Given the description of an element on the screen output the (x, y) to click on. 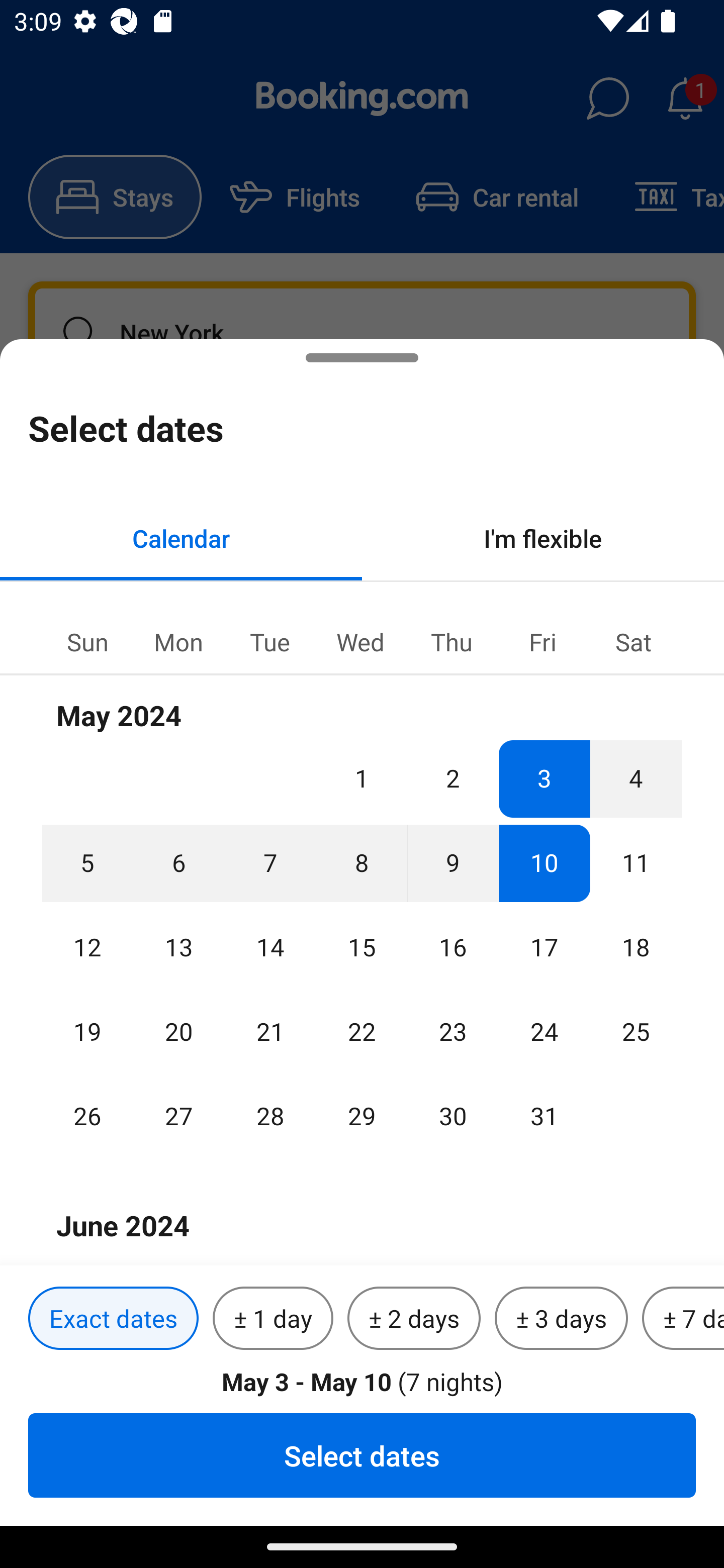
I'm flexible (543, 537)
Exact dates (113, 1318)
± 1 day (272, 1318)
± 2 days (413, 1318)
± 3 days (560, 1318)
± 7 days (683, 1318)
Select dates (361, 1454)
